Given the description of an element on the screen output the (x, y) to click on. 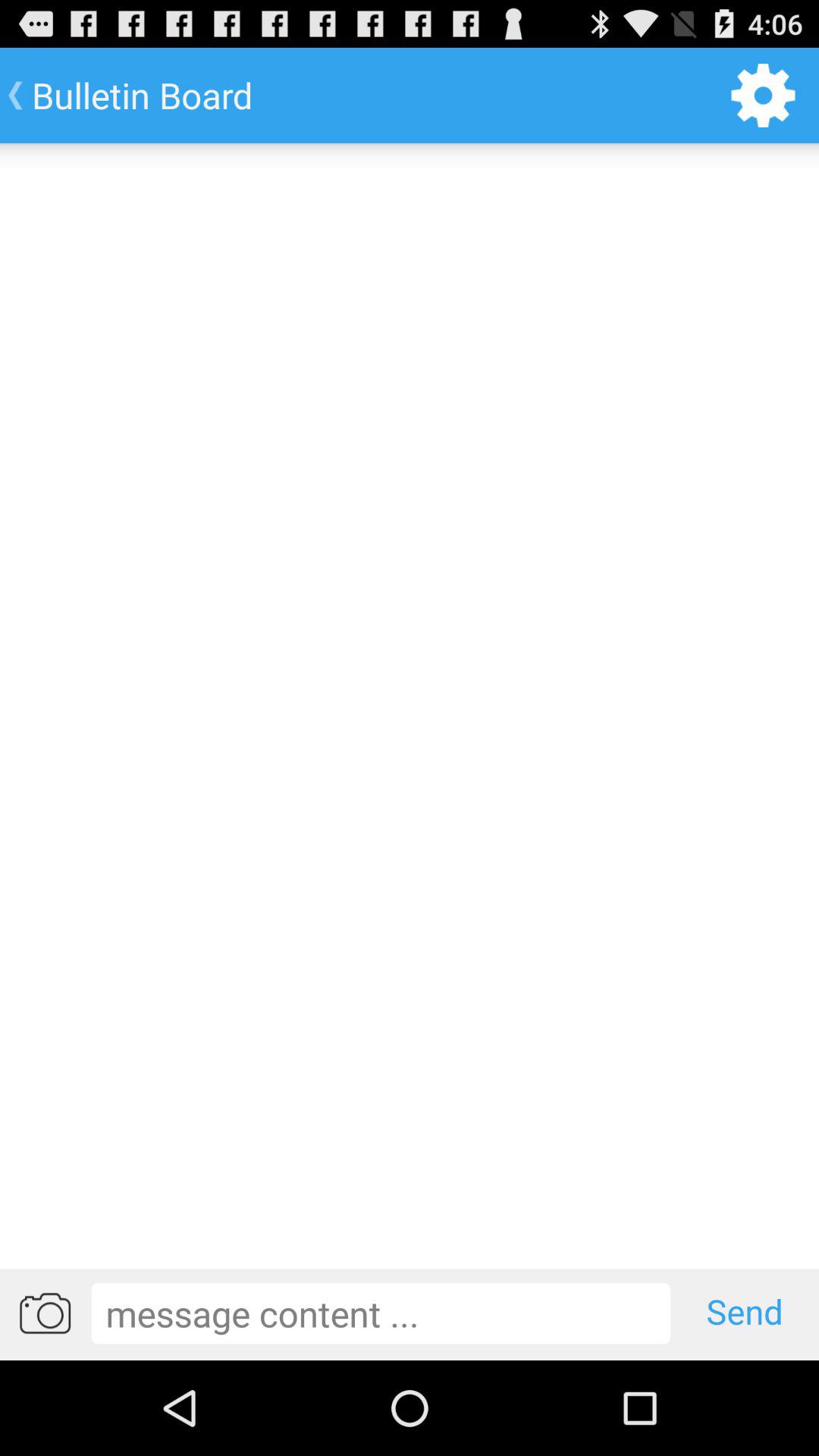
send message (380, 1313)
